Given the description of an element on the screen output the (x, y) to click on. 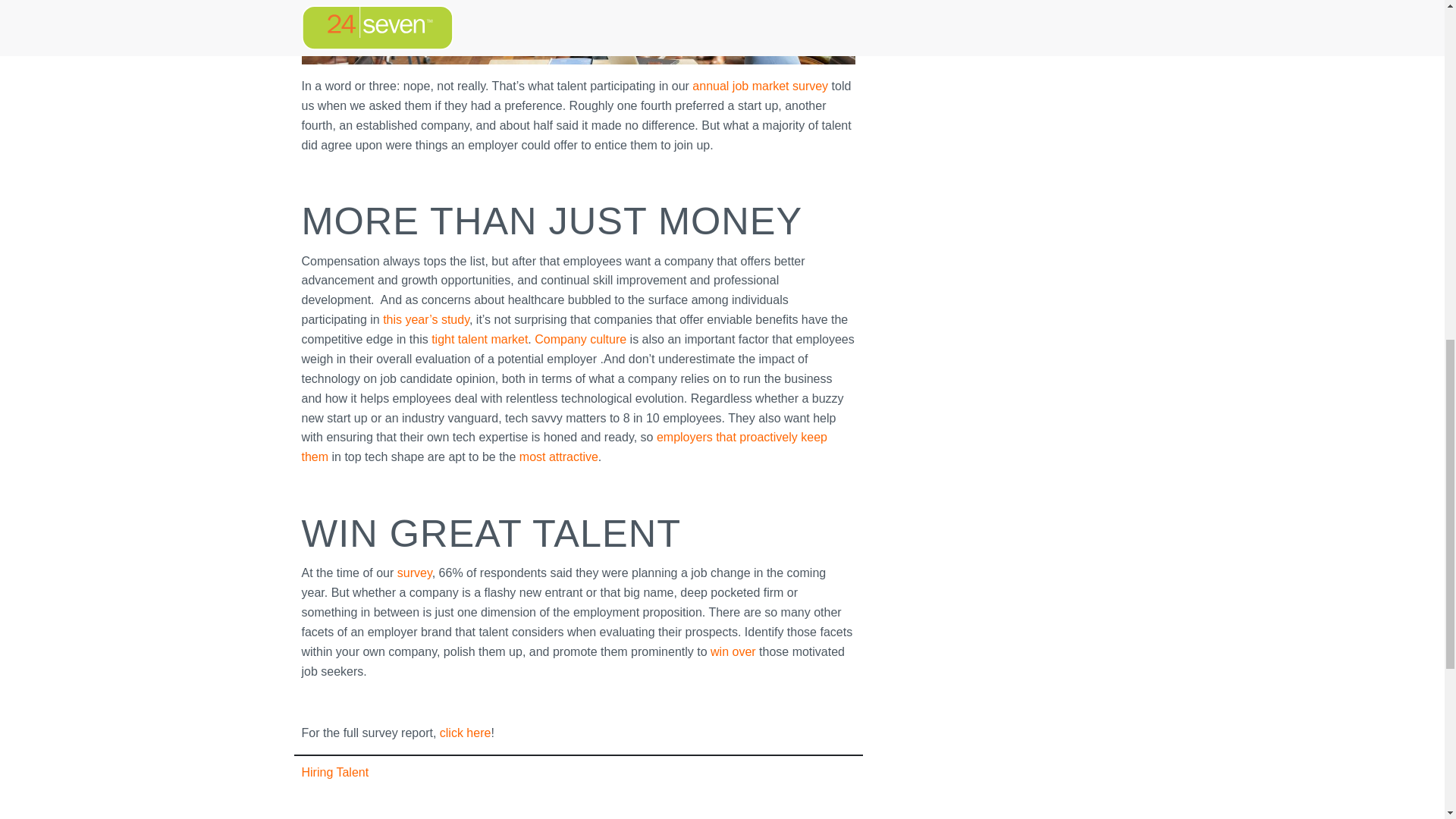
Hiring Talent (335, 772)
most attractive (555, 456)
survey (414, 572)
tight talent market (478, 338)
employers that proactively keep them (564, 446)
Company culture (580, 338)
annual job market survey (760, 85)
click here (465, 732)
win over (732, 651)
